Given the description of an element on the screen output the (x, y) to click on. 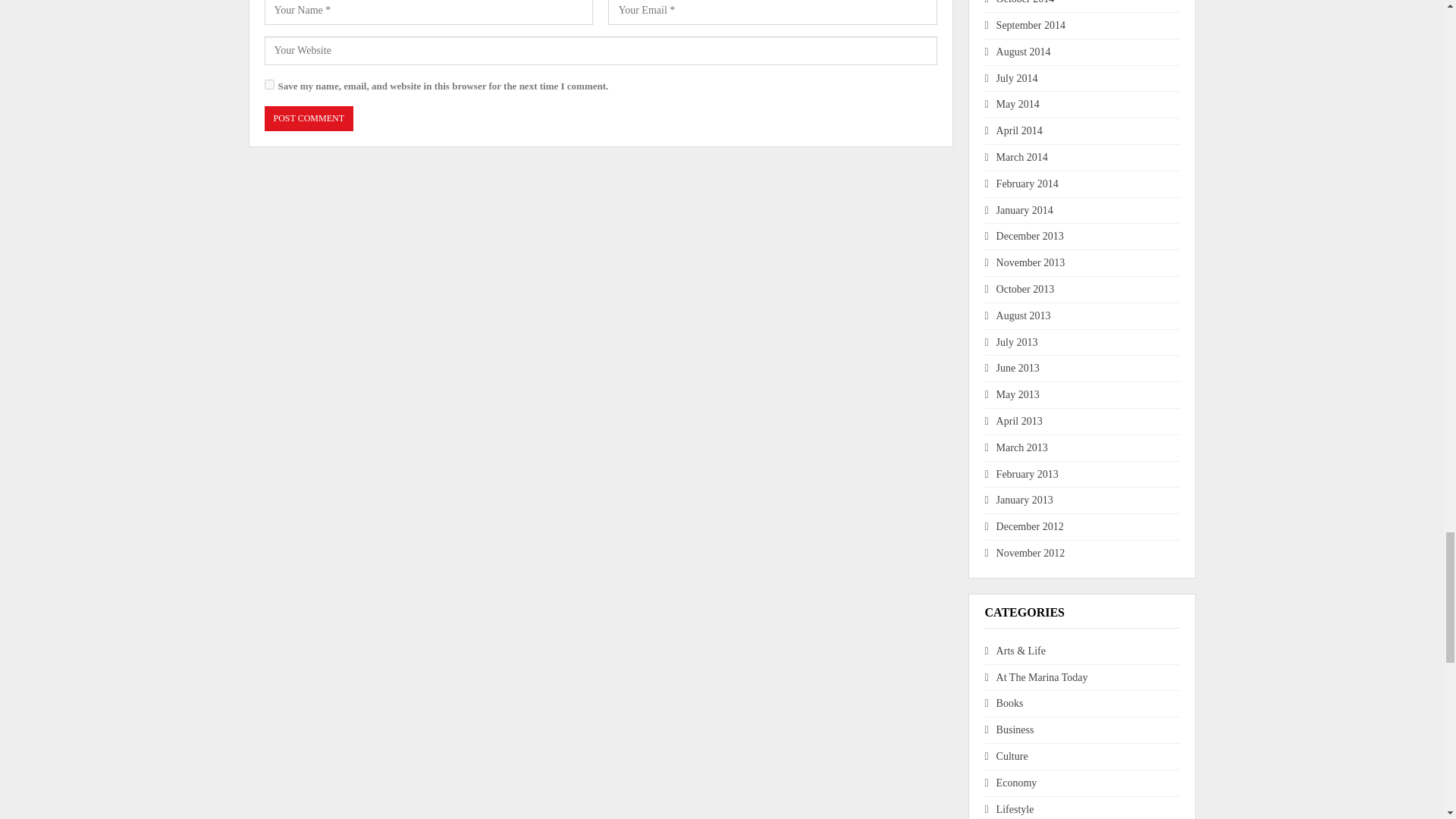
Post Comment (307, 118)
yes (268, 84)
